Given the description of an element on the screen output the (x, y) to click on. 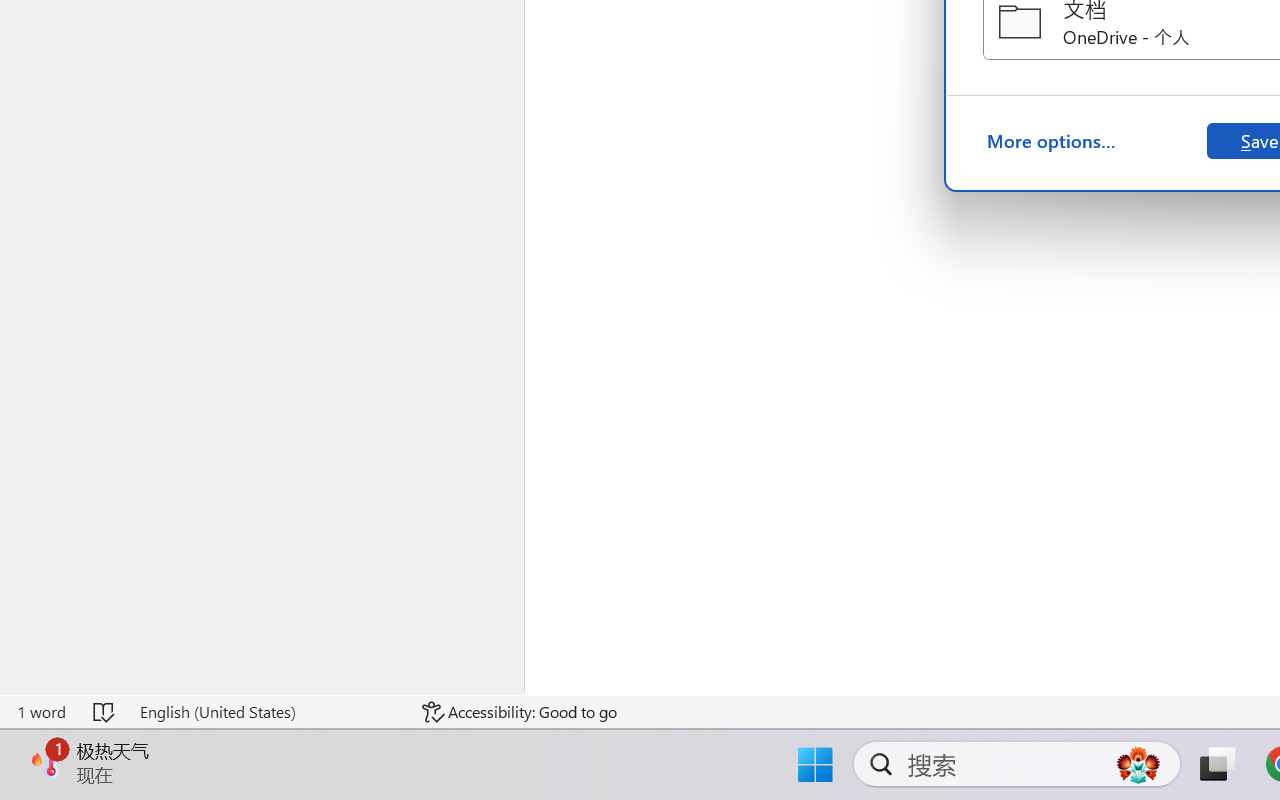
Accessibility Checker Accessibility: Good to go (519, 712)
Language English (United States) (267, 712)
AutomationID: BadgeAnchorLargeTicker (46, 762)
Word Count 1 word (41, 712)
Spelling and Grammar Check No Errors (105, 712)
